Given the description of an element on the screen output the (x, y) to click on. 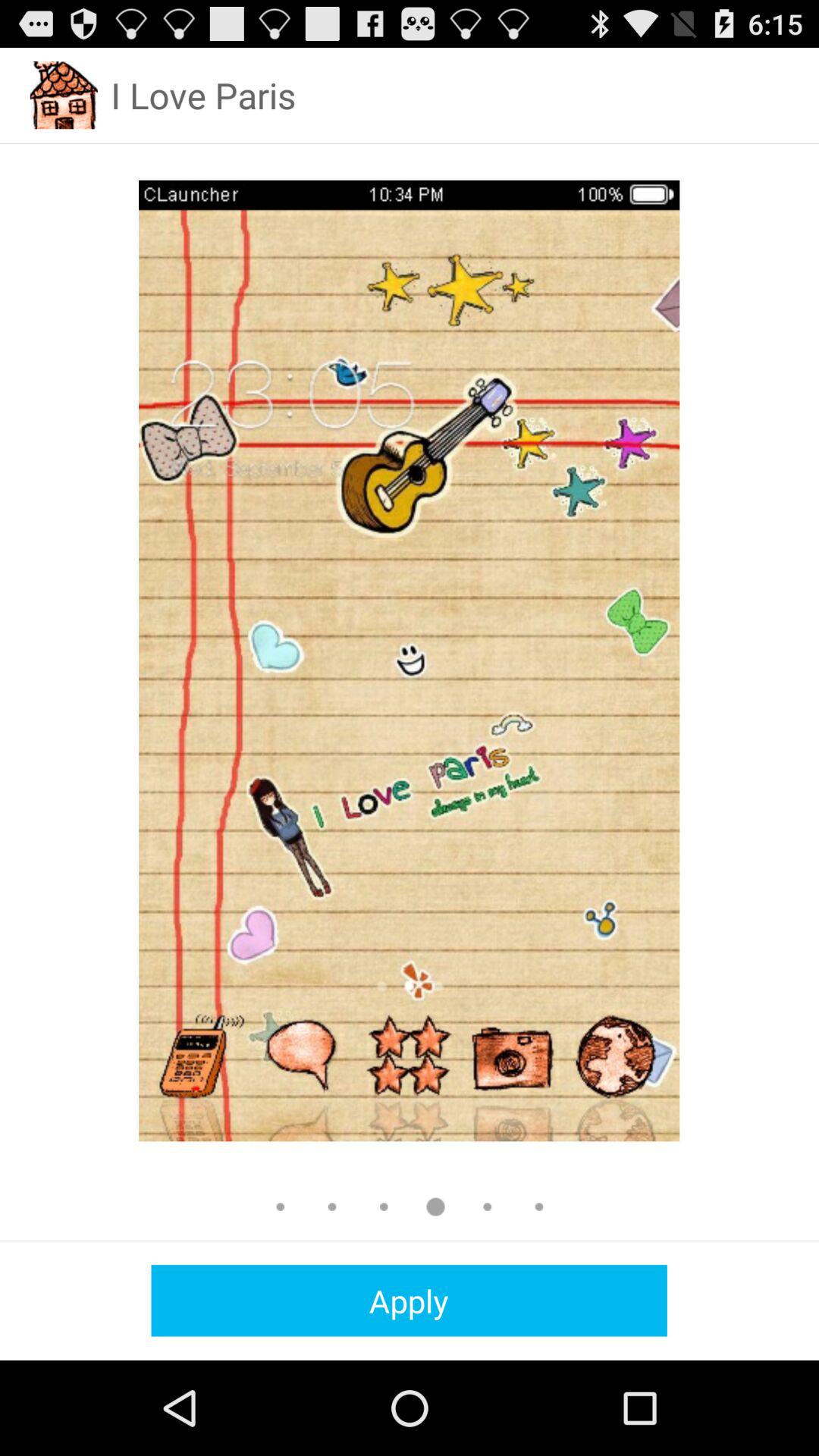
turn on the apply button (409, 1300)
